Given the description of an element on the screen output the (x, y) to click on. 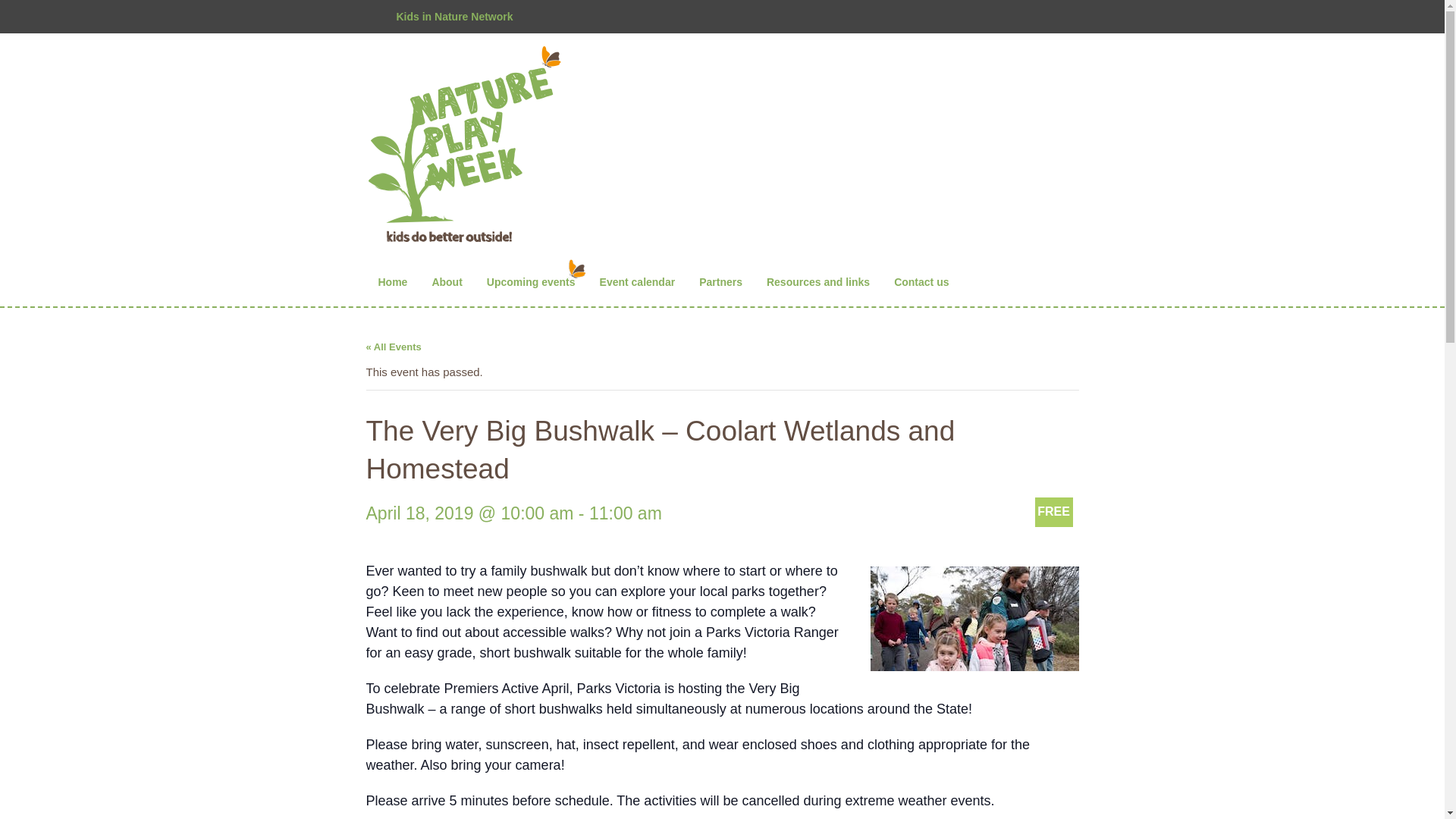
Kids in Nature Network (454, 16)
